Given the description of an element on the screen output the (x, y) to click on. 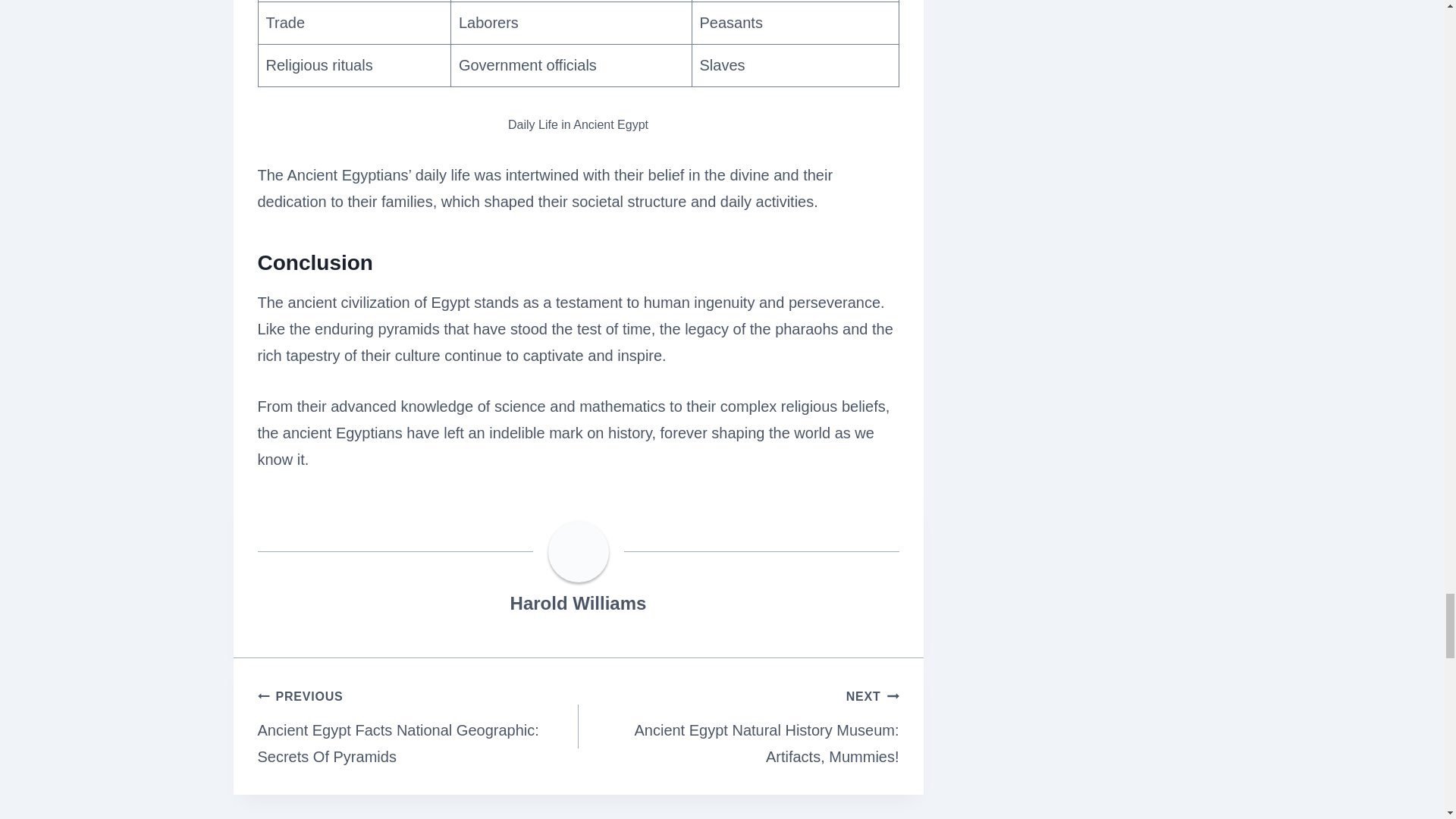
Harold Williams (578, 602)
Posts by Harold Williams (578, 602)
